Given the description of an element on the screen output the (x, y) to click on. 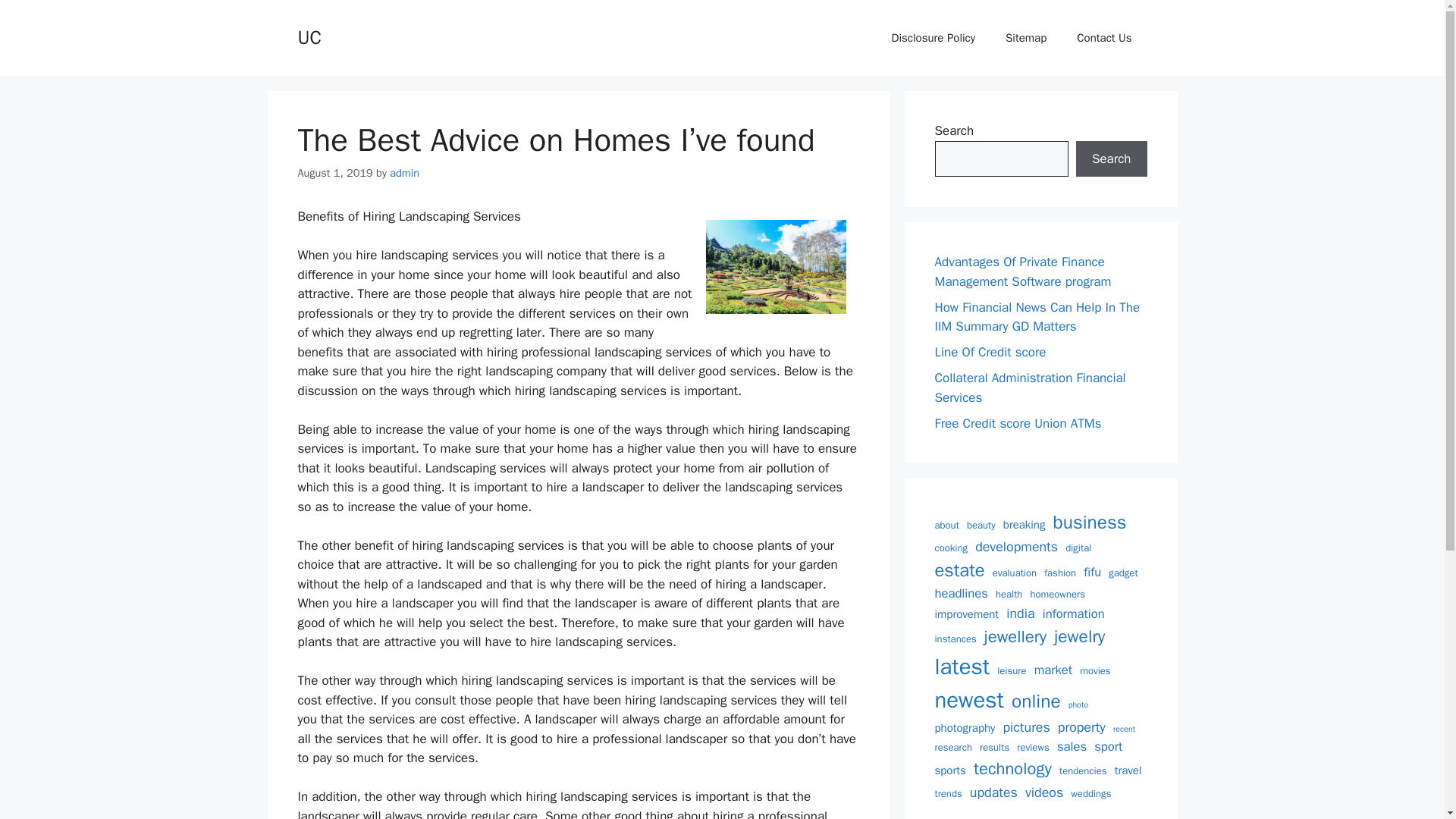
Disclosure Policy (933, 37)
digital (1077, 548)
headlines (960, 593)
beauty (980, 525)
Line Of Credit score (989, 351)
fifu (1091, 572)
homeowners (1057, 594)
estate (959, 570)
View all posts by admin (404, 172)
about (946, 525)
evaluation (1014, 572)
health (1008, 594)
india (1019, 613)
Free Credit score Union ATMs (1017, 423)
improvement (966, 614)
